Given the description of an element on the screen output the (x, y) to click on. 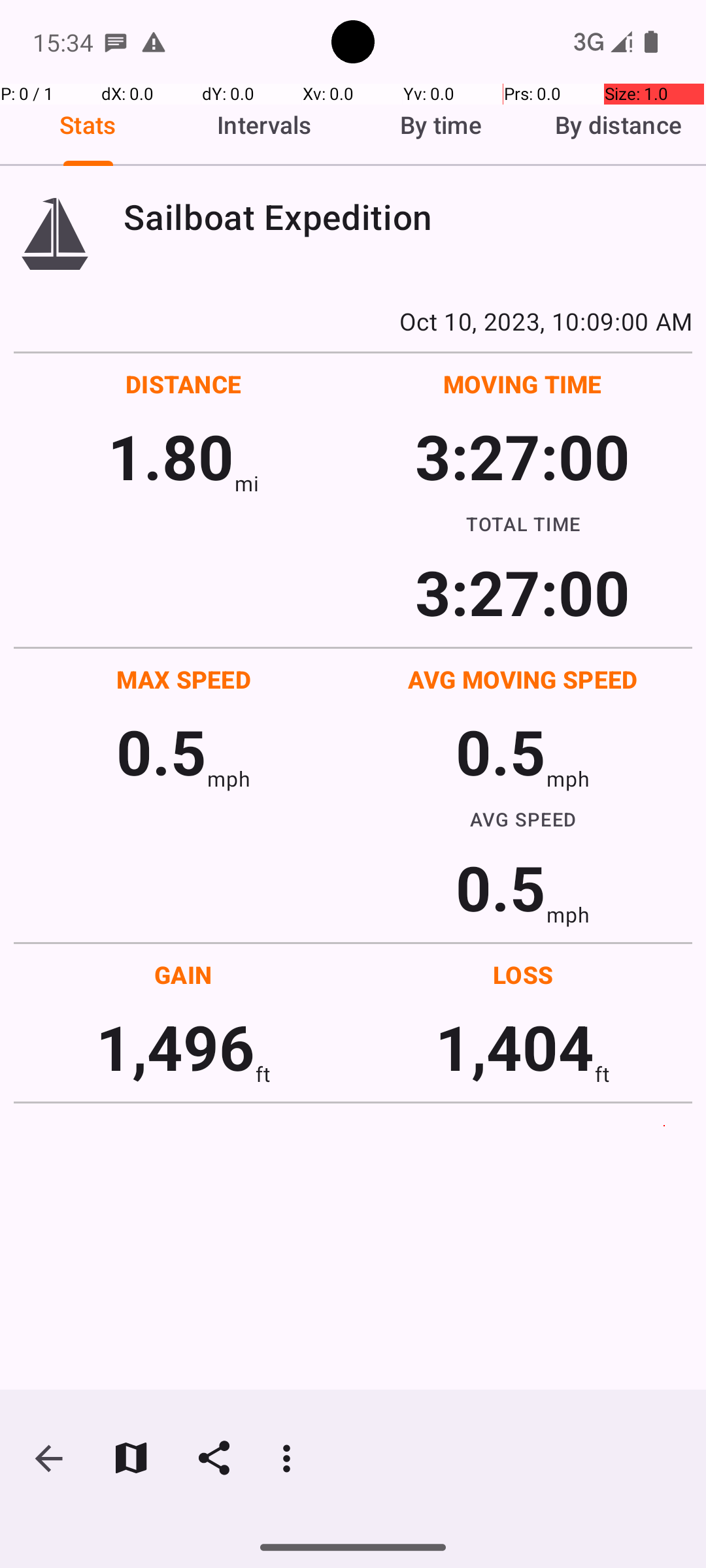
Sailboat Expedition Element type: android.widget.TextView (407, 216)
Oct 10, 2023, 10:09:00 AM Element type: android.widget.TextView (352, 320)
1.80 Element type: android.widget.TextView (170, 455)
3:27:00 Element type: android.widget.TextView (522, 455)
0.5 Element type: android.widget.TextView (161, 750)
1,496 Element type: android.widget.TextView (175, 1045)
1,404 Element type: android.widget.TextView (514, 1045)
